Given the description of an element on the screen output the (x, y) to click on. 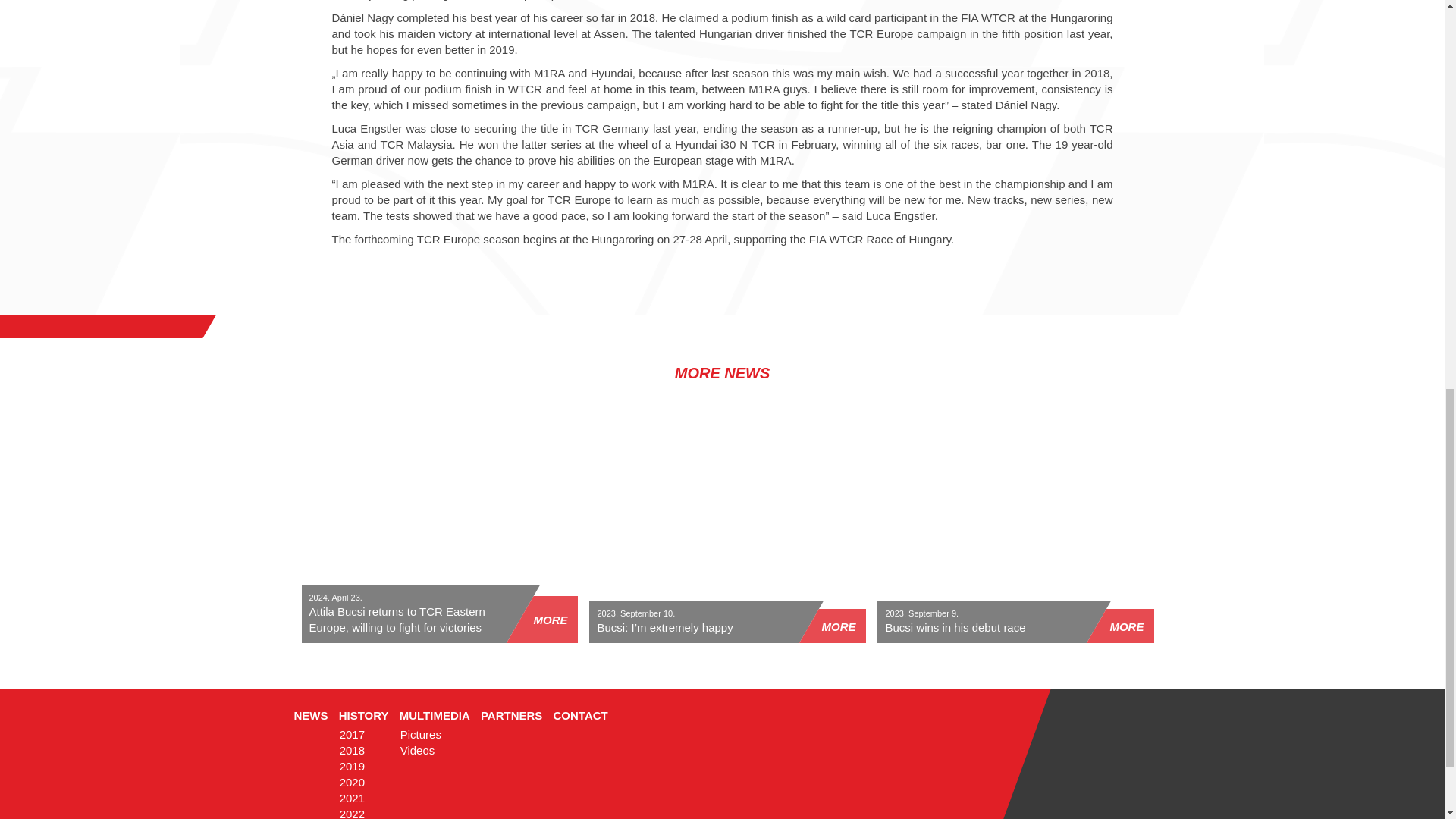
2017 (352, 734)
Videos (417, 749)
Pictures (420, 734)
CONTACT (580, 715)
2018 (352, 749)
MORE (838, 625)
MULTIMEDIA (434, 715)
2020 (352, 781)
MORE (549, 619)
2019 (352, 766)
NEWS (311, 715)
MORE (1125, 625)
